Given the description of an element on the screen output the (x, y) to click on. 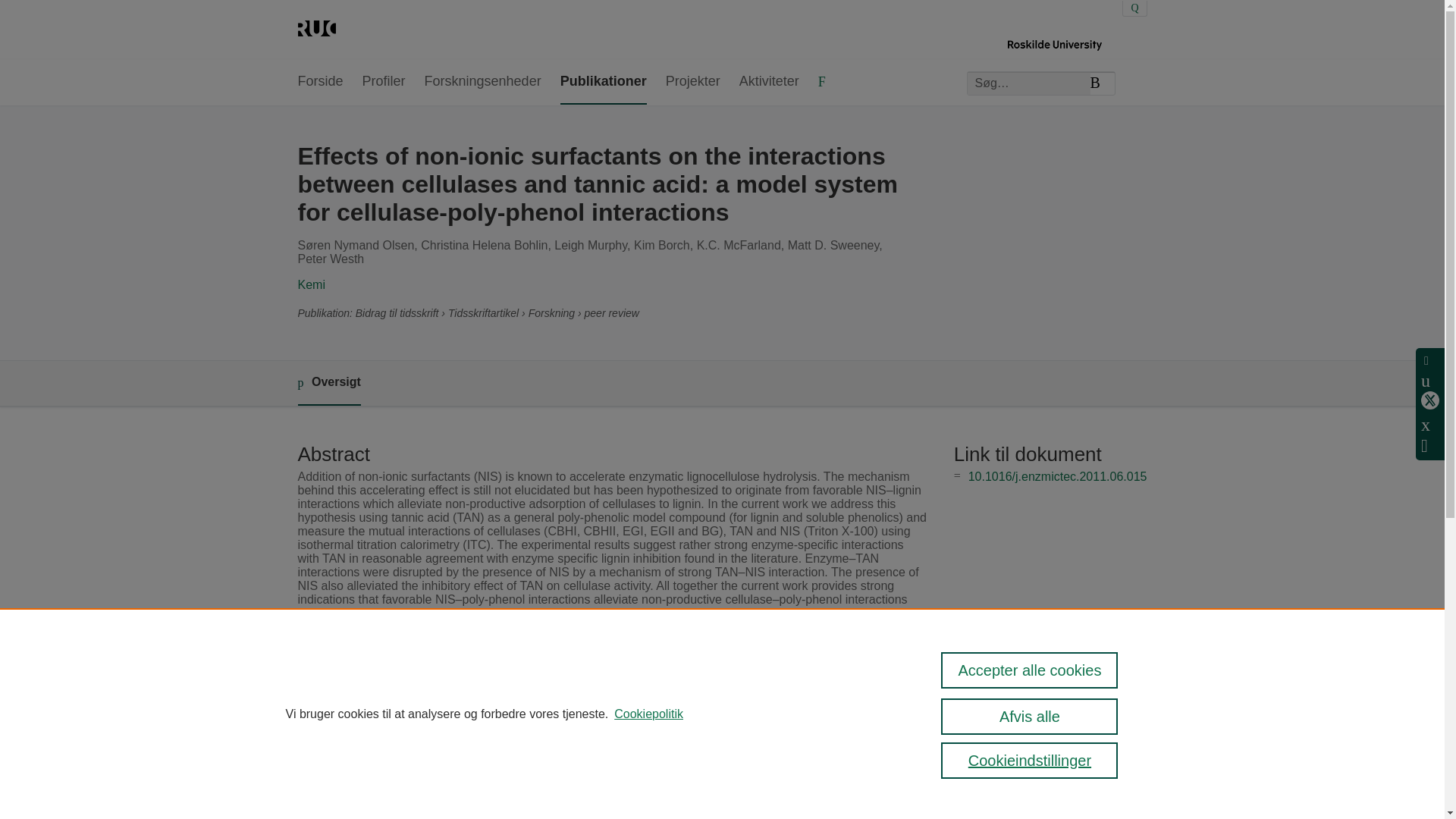
Kemi (310, 284)
Cookiepolitik (648, 713)
Enzyme and Microbial Technology (599, 682)
Aktiviteter (769, 81)
Projekter (692, 81)
Oversigt (328, 383)
Forskningsenheder (483, 81)
Roskilde Universitets forskningsportal Forside (315, 29)
Publikationer (603, 81)
Forside (319, 81)
Profiler (384, 81)
